Given the description of an element on the screen output the (x, y) to click on. 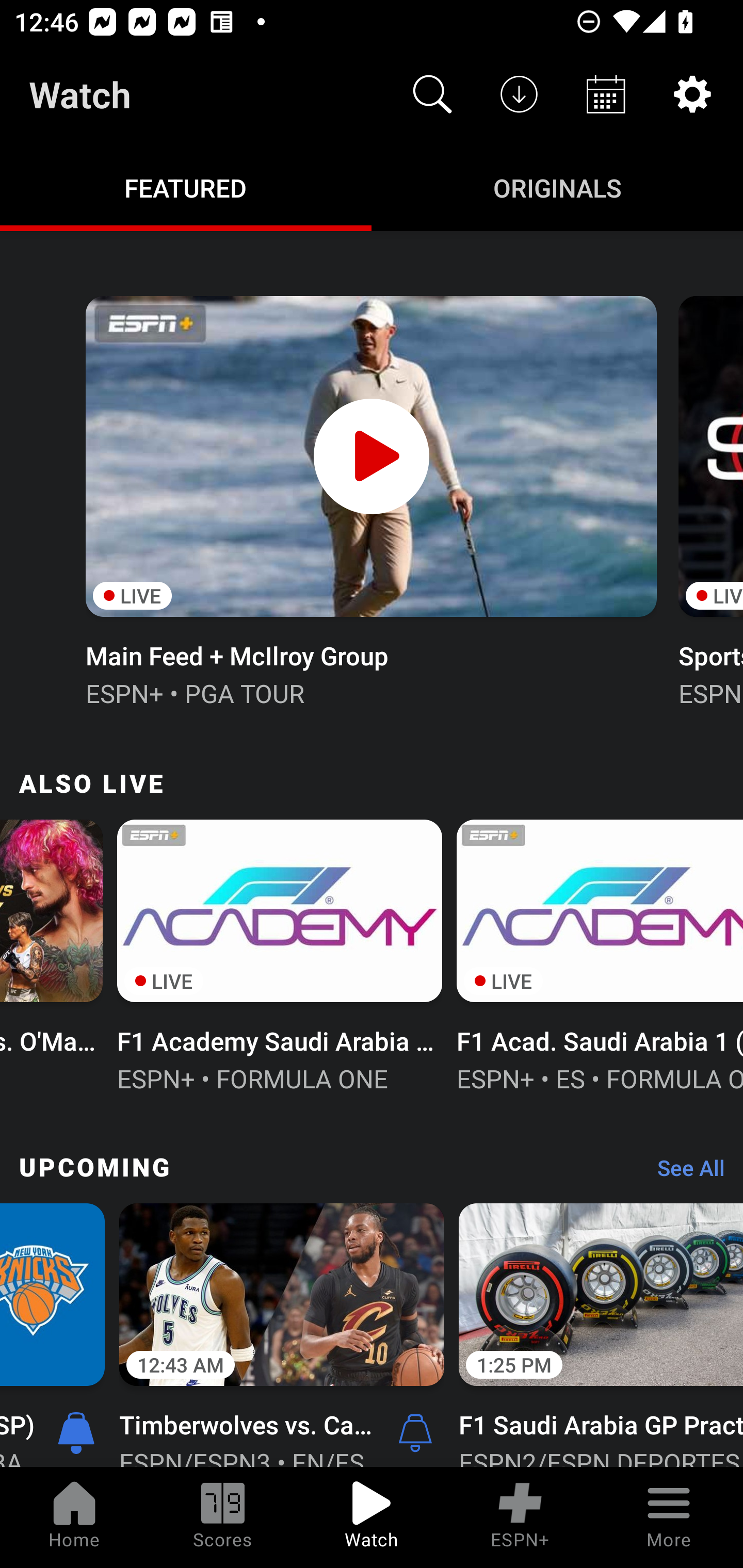
Search (432, 93)
Downloads (518, 93)
Schedule (605, 93)
Settings (692, 93)
Originals ORIGINALS (557, 187)
 LIVE Main Feed + McIlroy Group ESPN+ • PGA TOUR (370, 499)
See All (683, 1172)
Alerts (415, 1432)
Home (74, 1517)
Scores (222, 1517)
ESPN+ (519, 1517)
More (668, 1517)
